Given the description of an element on the screen output the (x, y) to click on. 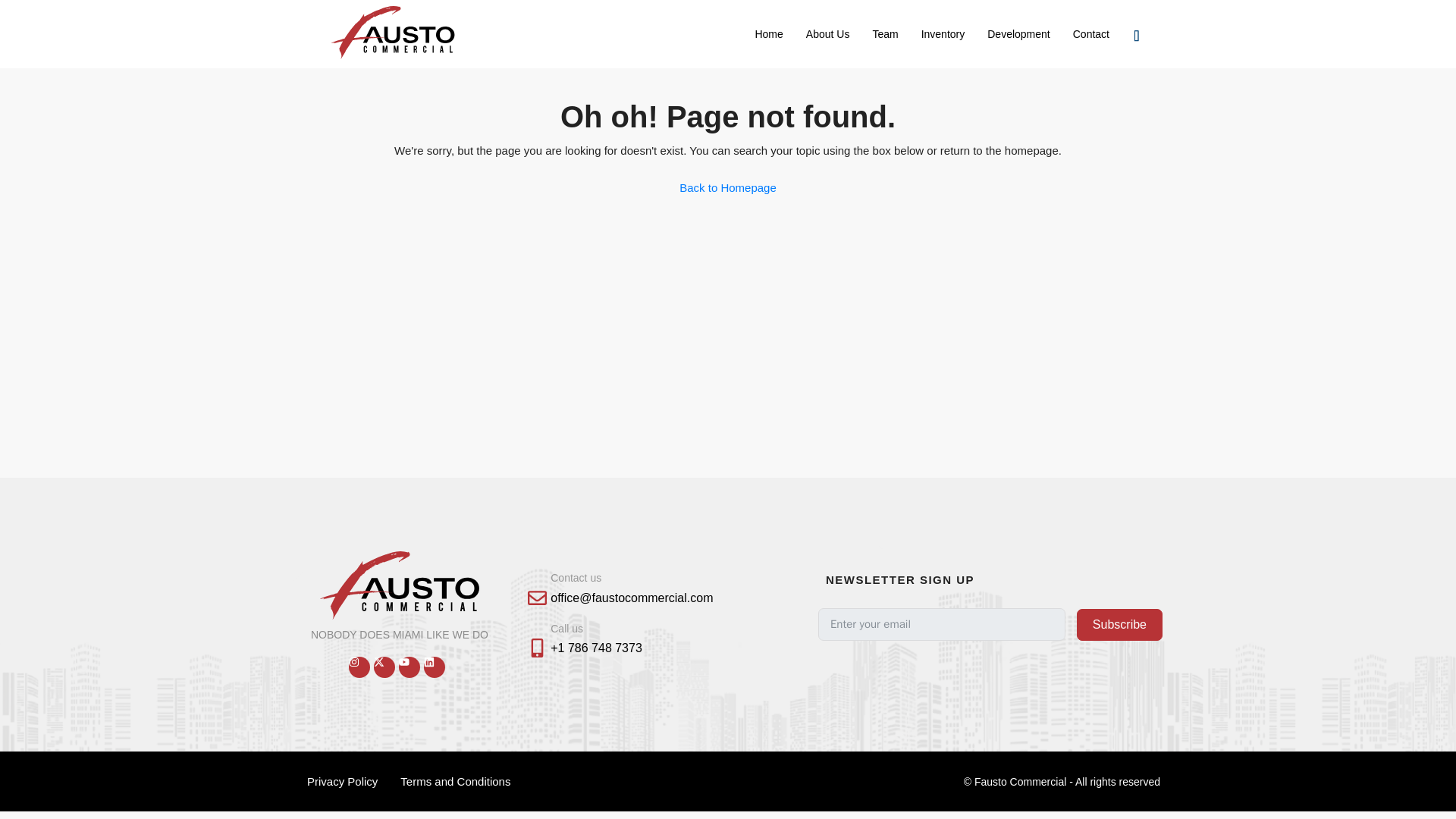
Terms and Conditions (454, 780)
Privacy Policy (341, 780)
Development (1018, 33)
About Us (827, 33)
faustonet logo (400, 585)
Inventory (943, 33)
Back to Homepage (727, 187)
Subscribe (1119, 624)
